Given the description of an element on the screen output the (x, y) to click on. 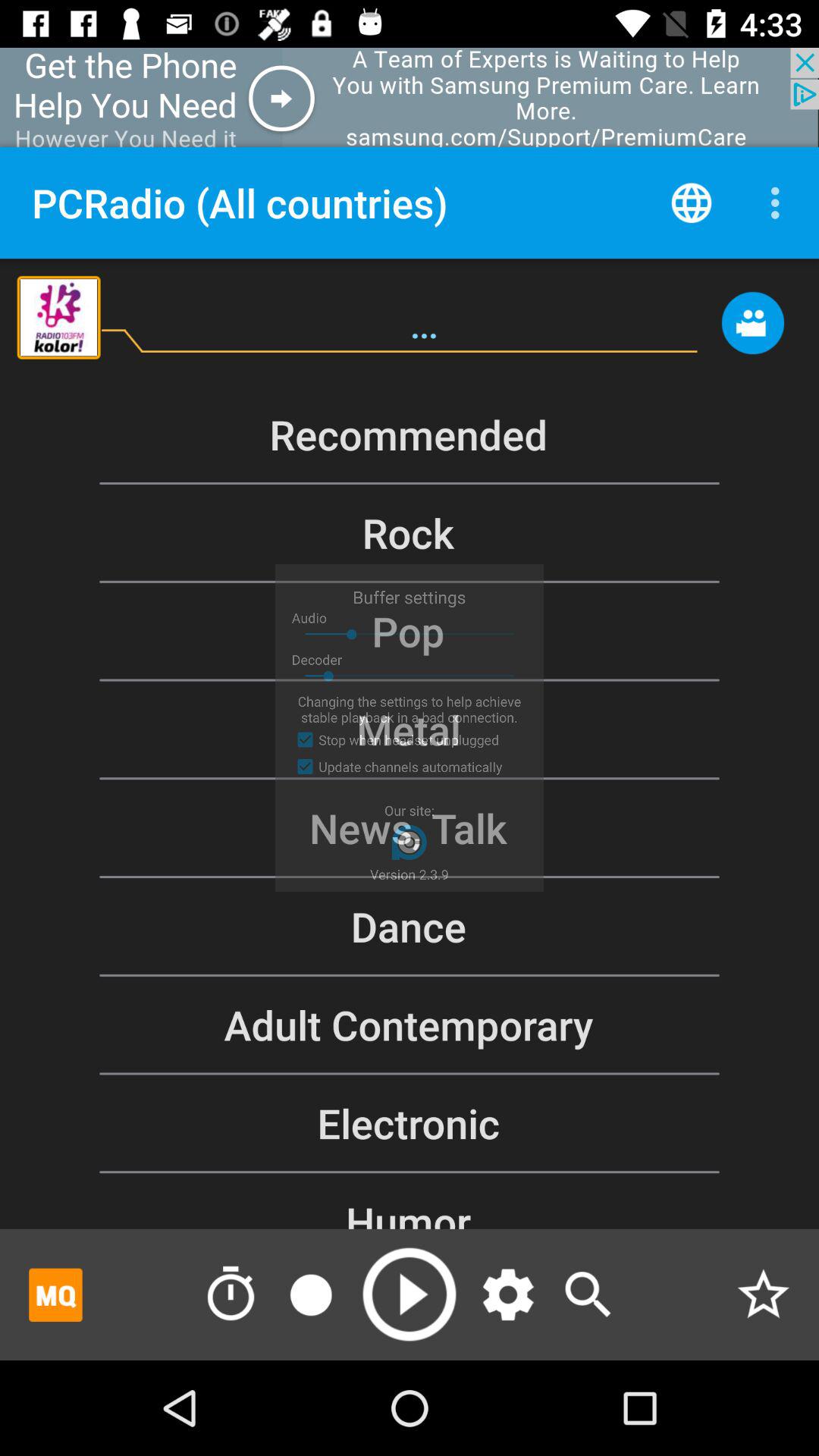
go to alarm (230, 1294)
